Given the description of an element on the screen output the (x, y) to click on. 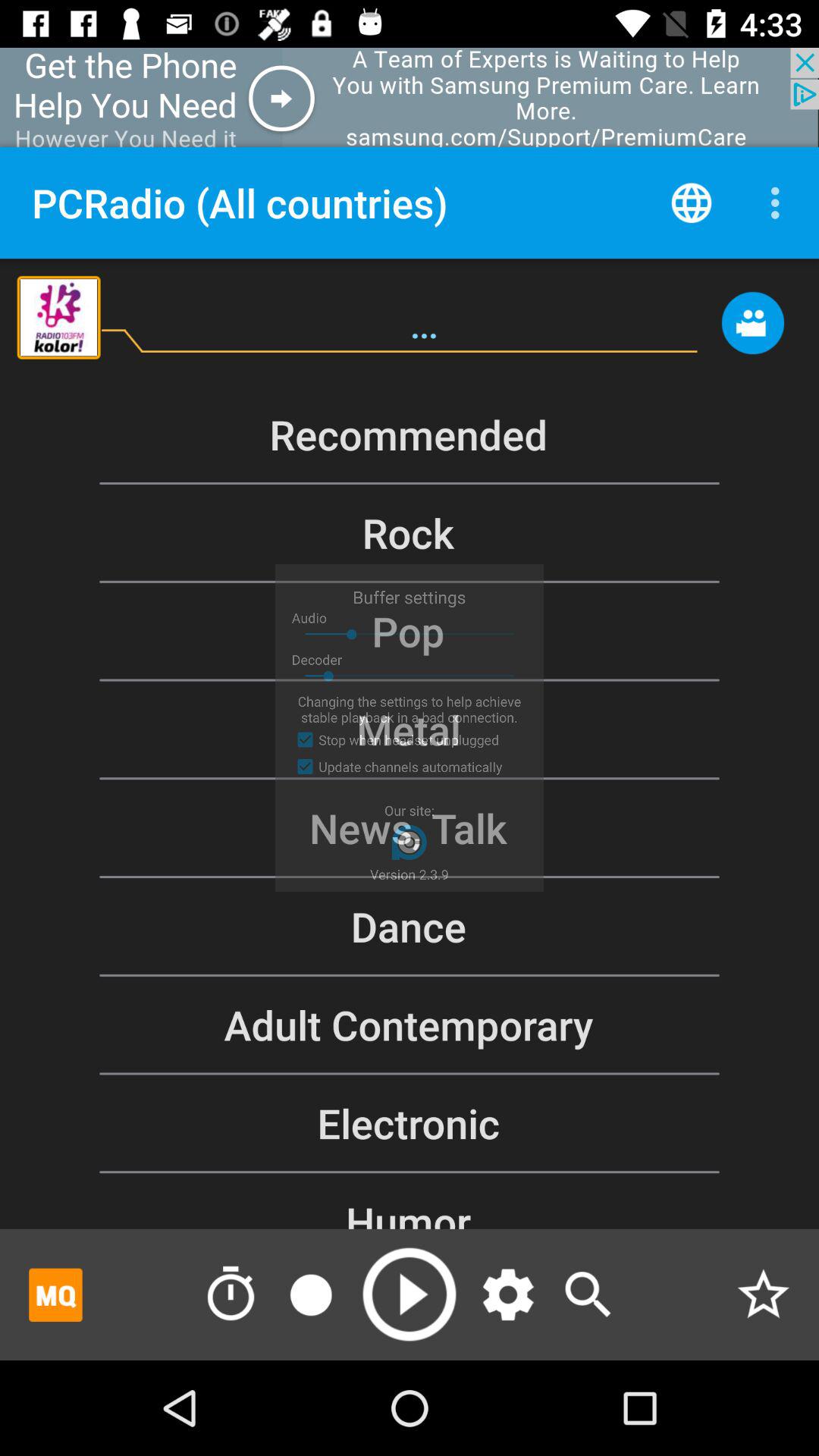
go to alarm (230, 1294)
